Given the description of an element on the screen output the (x, y) to click on. 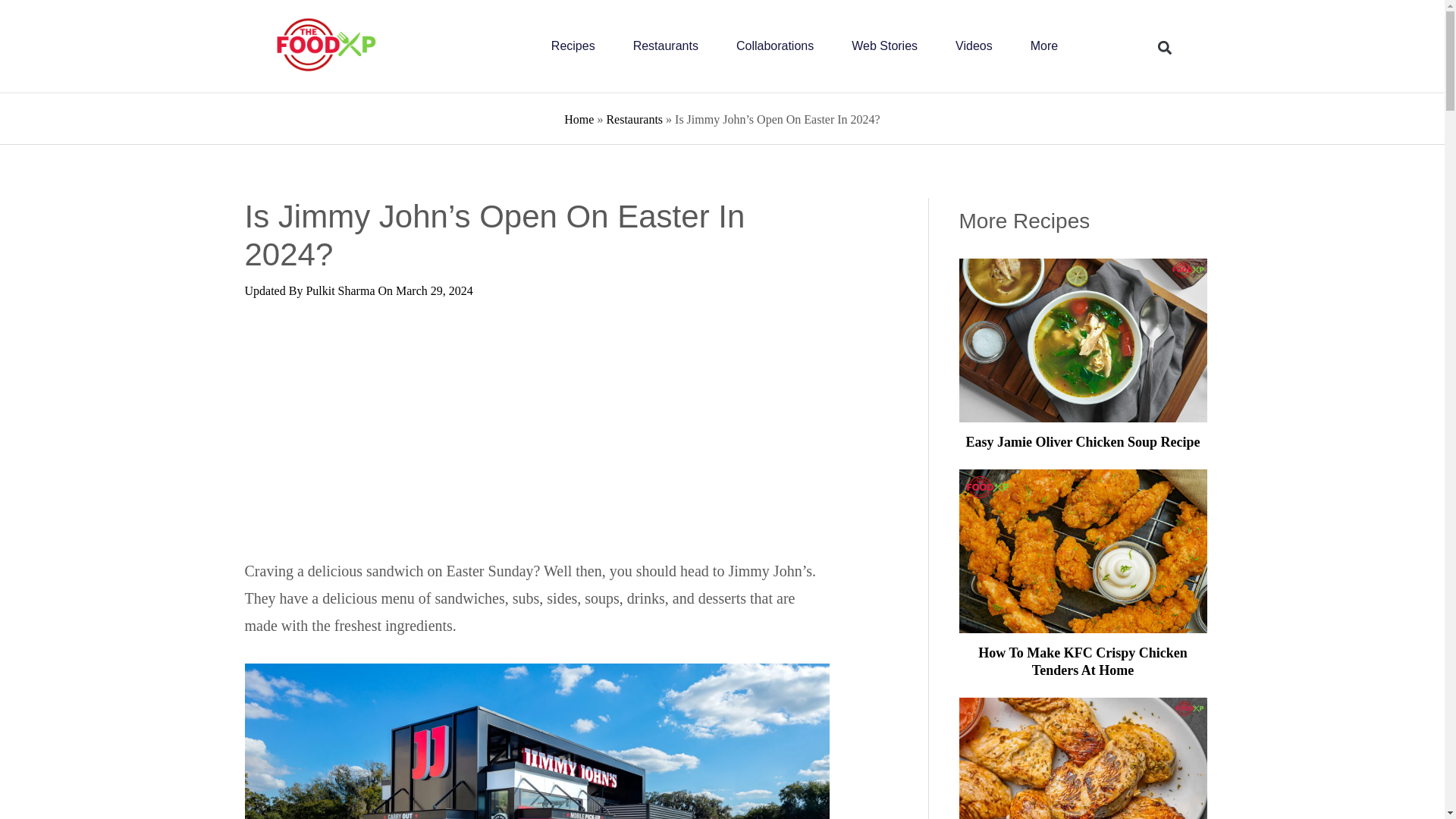
Web Stories (884, 45)
Collaborations (774, 45)
More (1044, 45)
Restaurants (665, 45)
Videos (973, 45)
Recipes (573, 45)
